Given the description of an element on the screen output the (x, y) to click on. 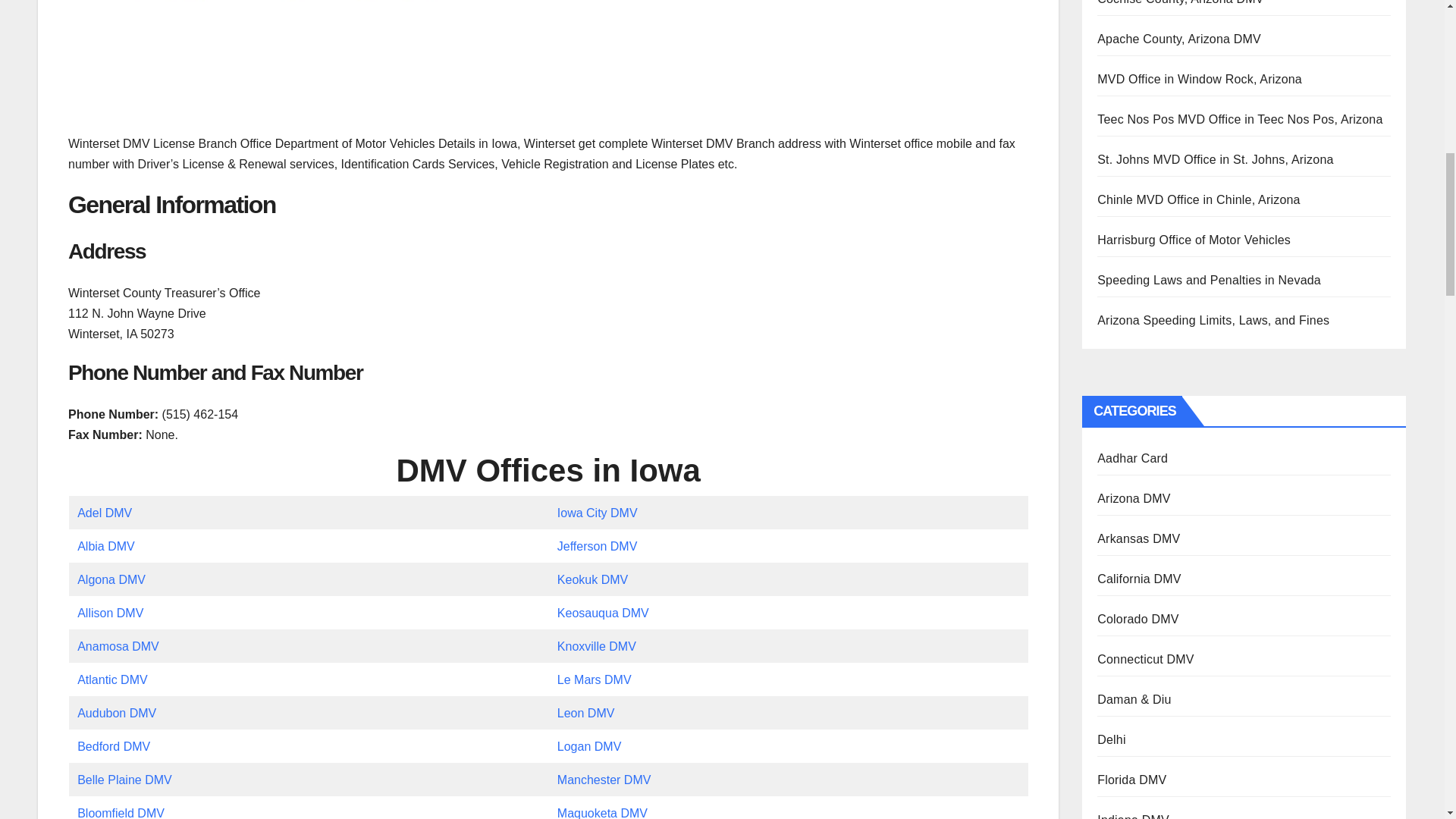
Iowa City DMV (597, 512)
Adel DMV (104, 512)
Algona DMV (111, 579)
Jefferson DMV (597, 545)
Albia DMV (106, 545)
